Given the description of an element on the screen output the (x, y) to click on. 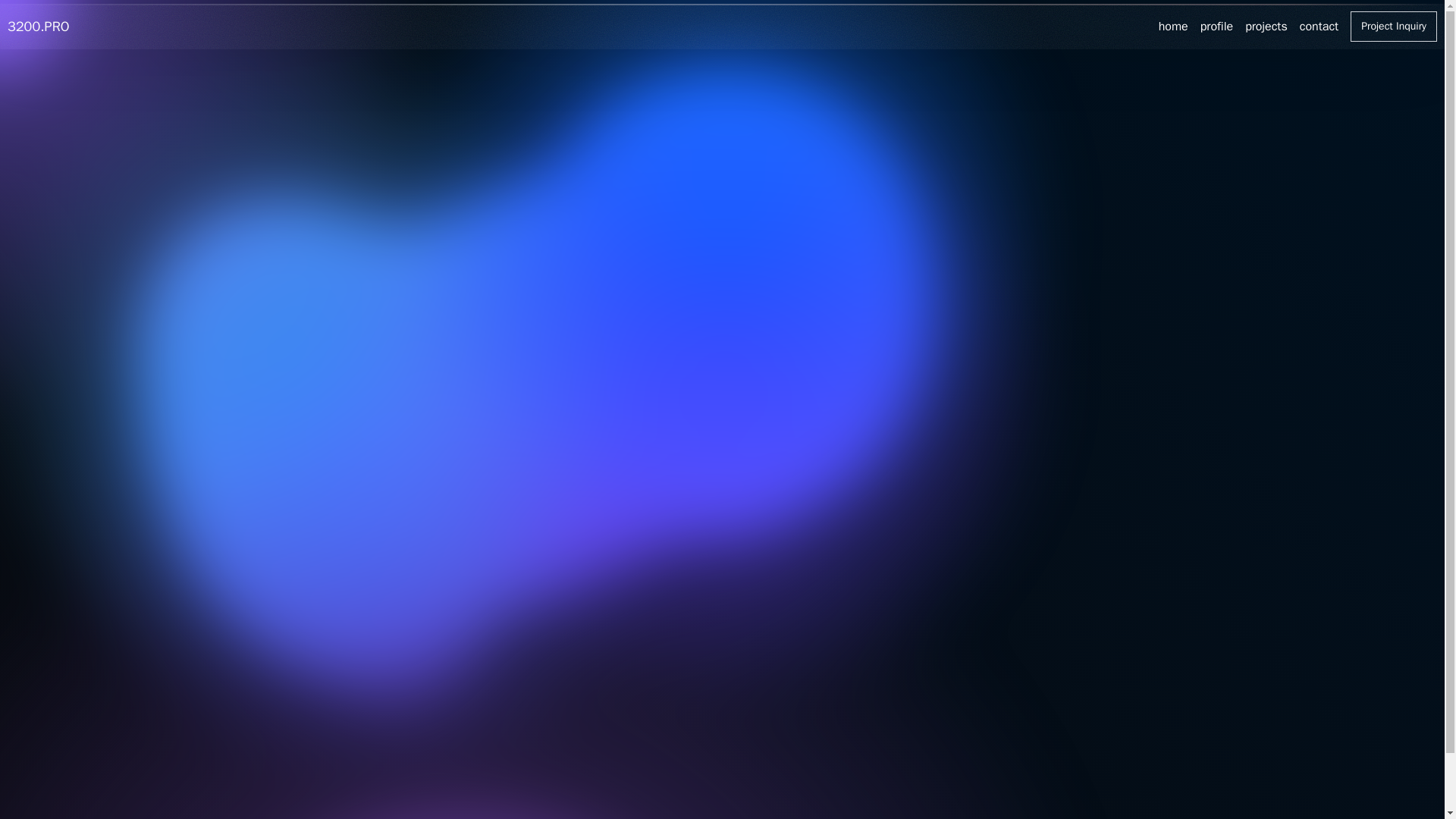
projects (1265, 26)
profile (1216, 26)
contact (1319, 26)
3200.PRO (38, 25)
home (1173, 26)
Project Inquiry (1394, 26)
